Given the description of an element on the screen output the (x, y) to click on. 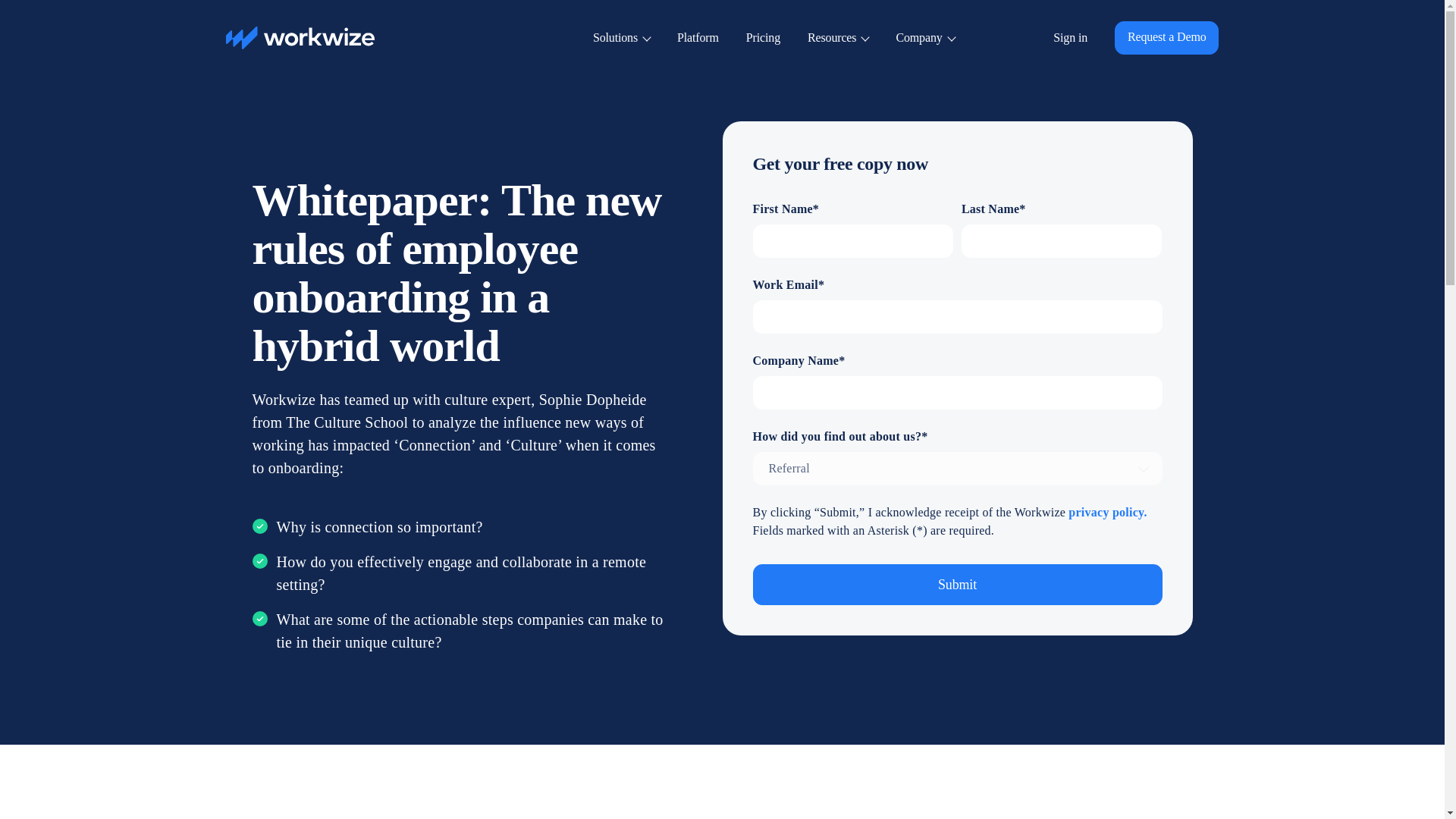
Request a Demo (1166, 37)
Pricing (762, 37)
Solutions (620, 37)
Sign in (1069, 37)
Platform (698, 37)
privacy policy. (1107, 512)
Submit (956, 584)
Company (924, 37)
Resources (837, 37)
Submit (956, 584)
